Given the description of an element on the screen output the (x, y) to click on. 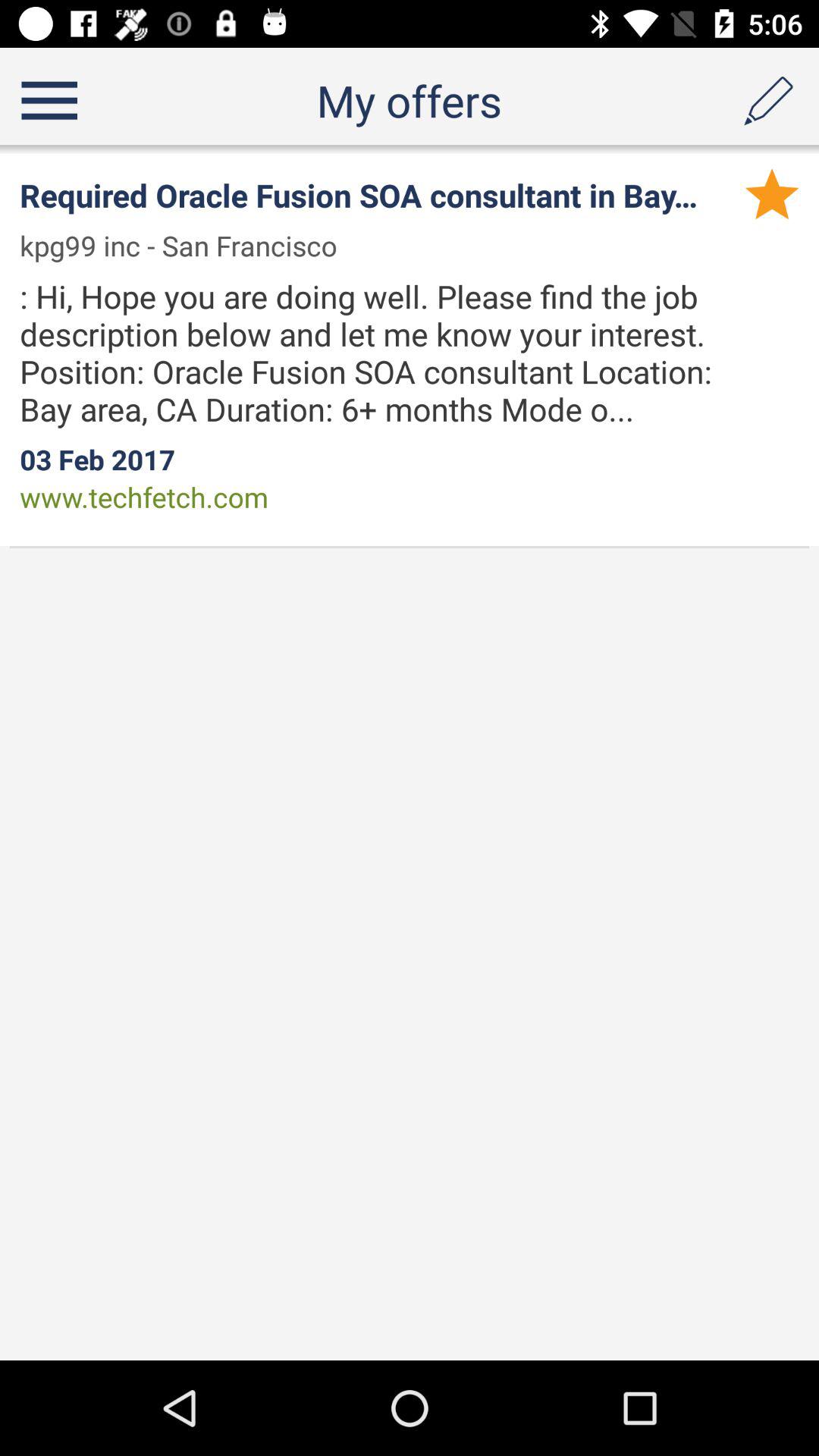
turn on icon next to the kpg99 inc san (772, 193)
